Given the description of an element on the screen output the (x, y) to click on. 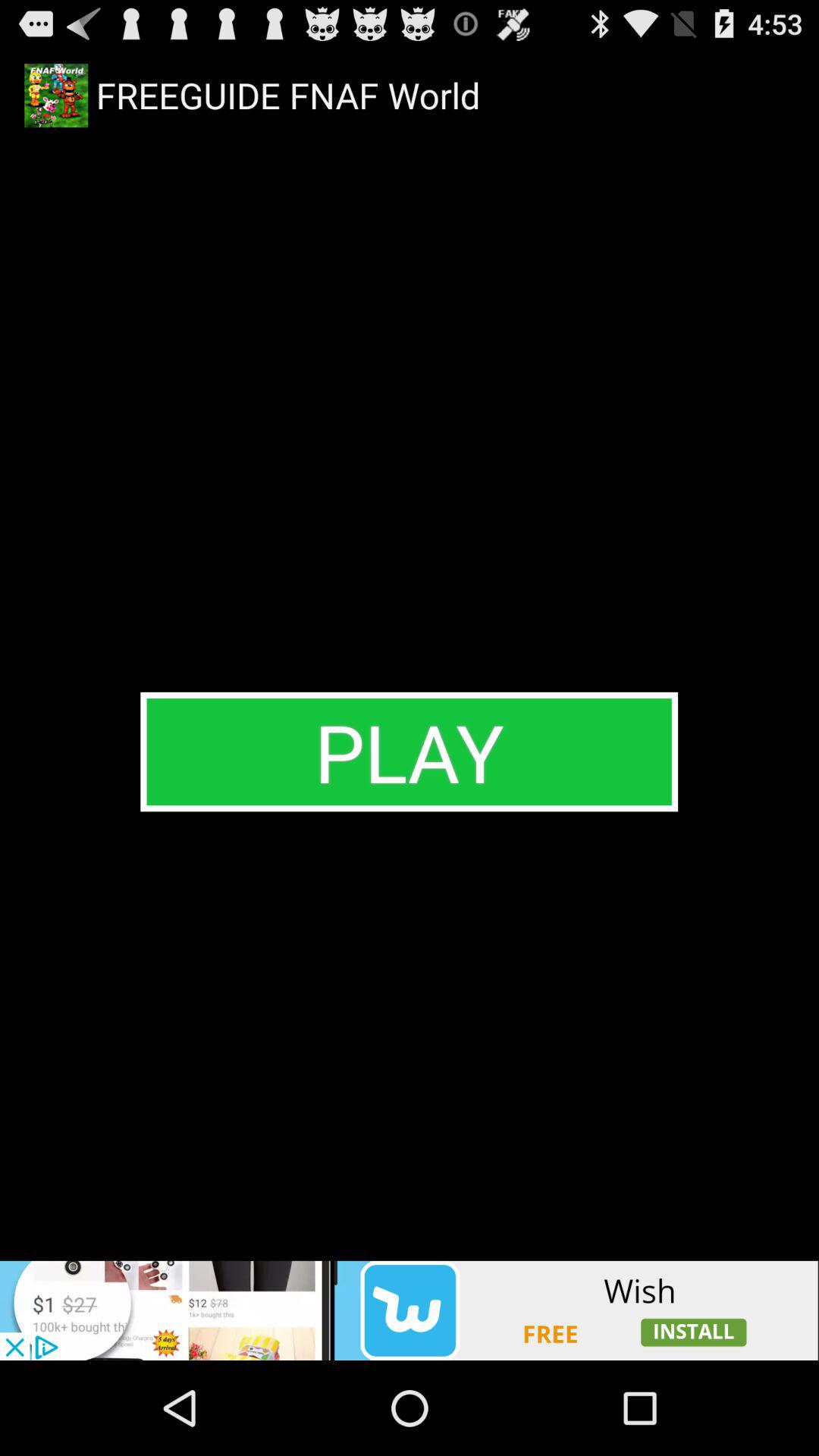
opens the advertisement (409, 1310)
